Given the description of an element on the screen output the (x, y) to click on. 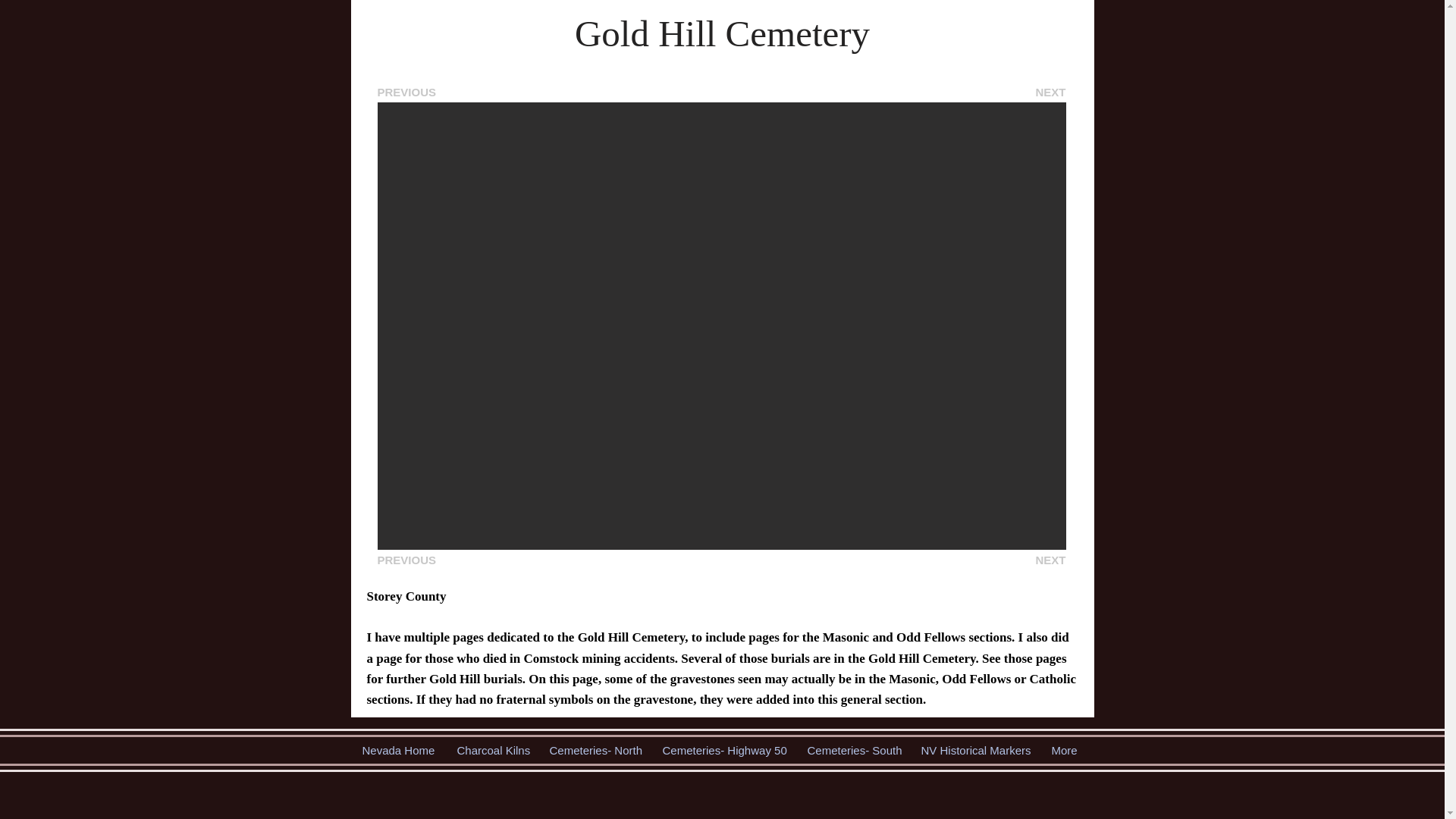
Charcoal Kilns (491, 750)
NV Historical Markers (975, 750)
Nevada Home (397, 750)
Cemeteries- North (594, 750)
NEXT (1049, 559)
Cemeteries- Highway 50 (722, 750)
Cemeteries- South (853, 750)
PREVIOUS (406, 559)
NEXT (1049, 91)
PREVIOUS (406, 91)
